Given the description of an element on the screen output the (x, y) to click on. 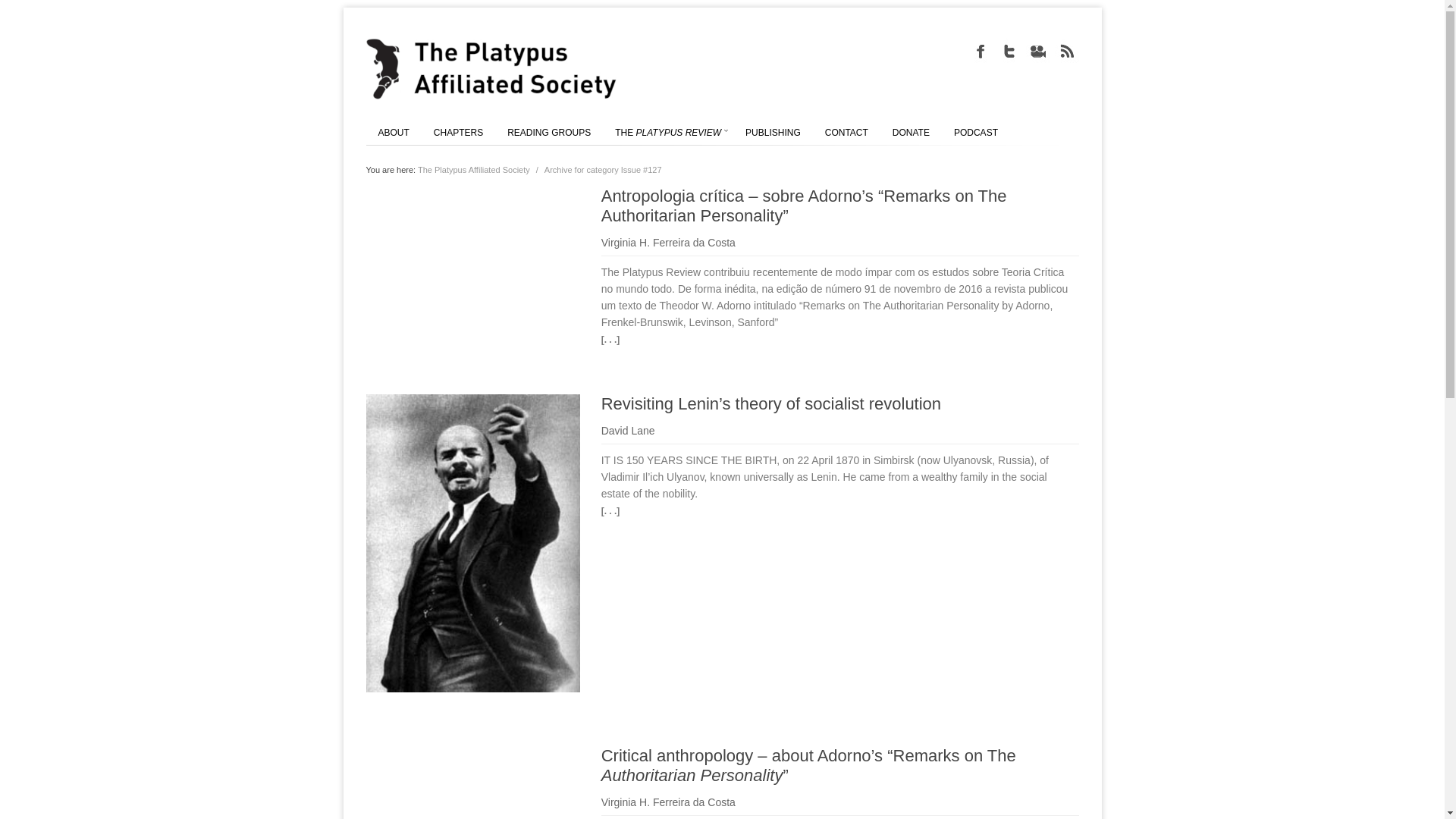
PUBLISHING (772, 131)
Facebook Group (979, 50)
Virginia H. Ferreira da Costa (668, 802)
THE PLATYPUS REVIEW (668, 131)
Twitter (1007, 50)
Virginia H. Ferreira da Costa (668, 242)
YouTube (1037, 50)
READING GROUPS (549, 131)
ABOUT (393, 131)
The Platypus Affiliated Society (473, 169)
